Given the description of an element on the screen output the (x, y) to click on. 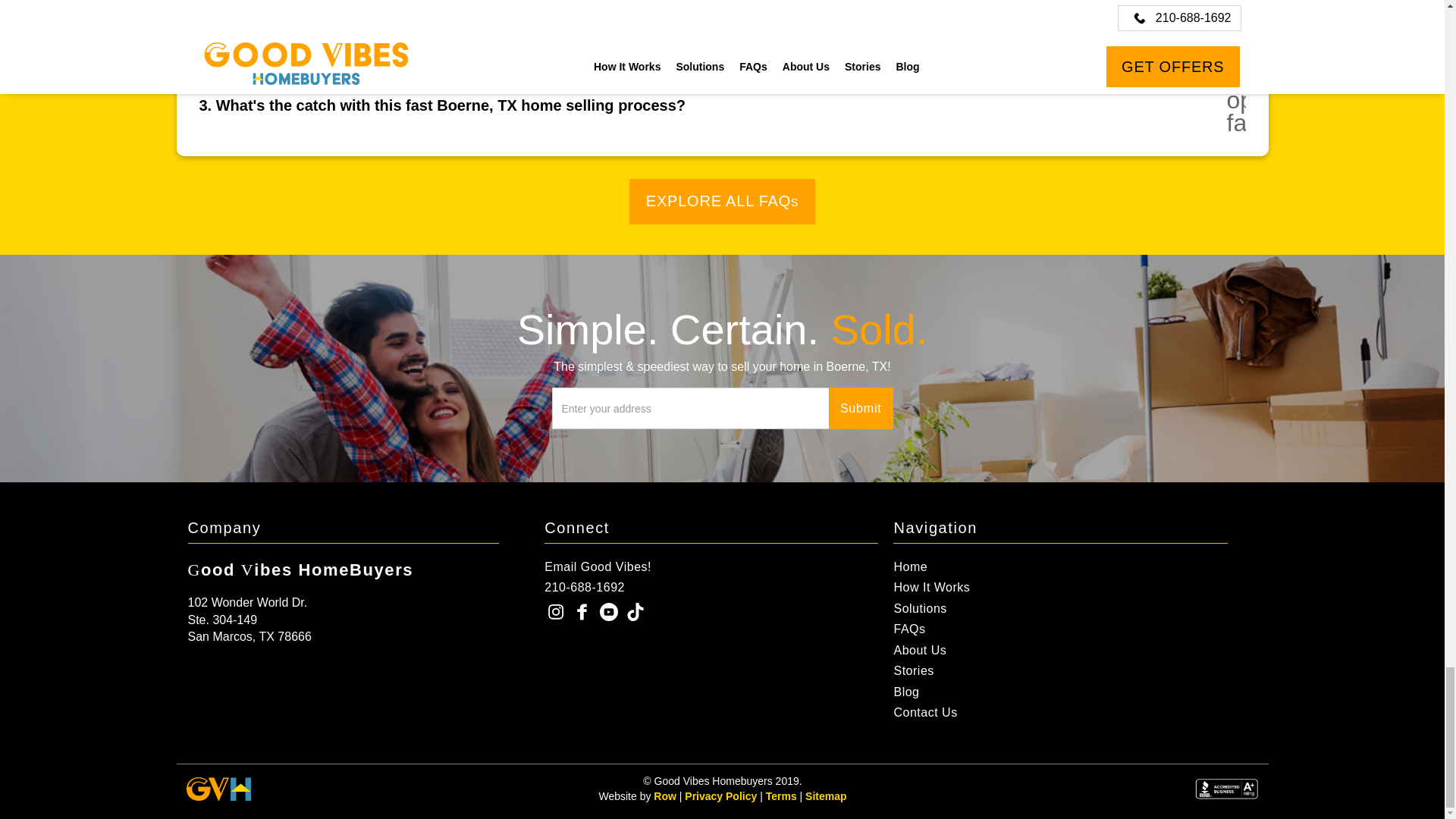
210-688-1692 (710, 587)
Submit (860, 408)
Email Good Vibes! (710, 566)
EXPLORE ALL FAQS (721, 201)
Home (1060, 566)
